Given the description of an element on the screen output the (x, y) to click on. 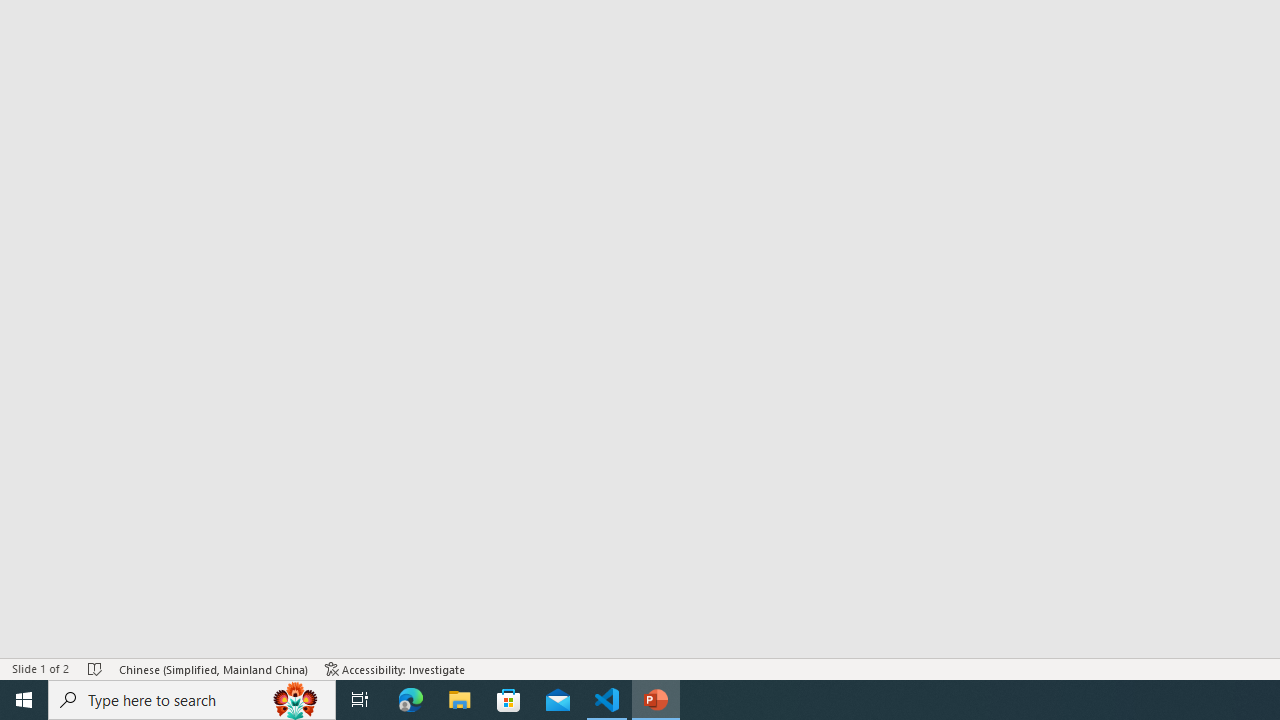
Spell Check No Errors (95, 668)
Accessibility Checker Accessibility: Investigate (395, 668)
